Given the description of an element on the screen output the (x, y) to click on. 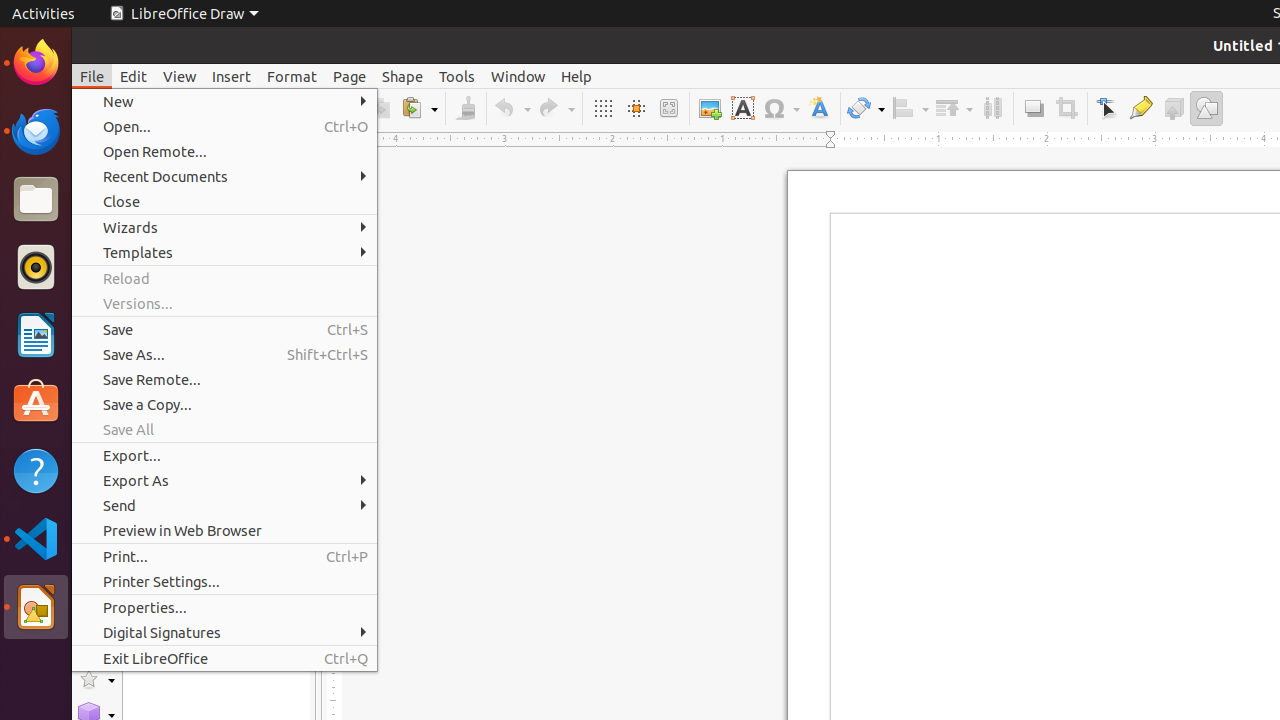
Digital Signatures Element type: menu (224, 632)
Window Element type: menu (518, 76)
Export... Element type: menu-item (224, 455)
Save a Copy... Element type: menu-item (224, 404)
Zoom & Pan Element type: push-button (668, 108)
